Given the description of an element on the screen output the (x, y) to click on. 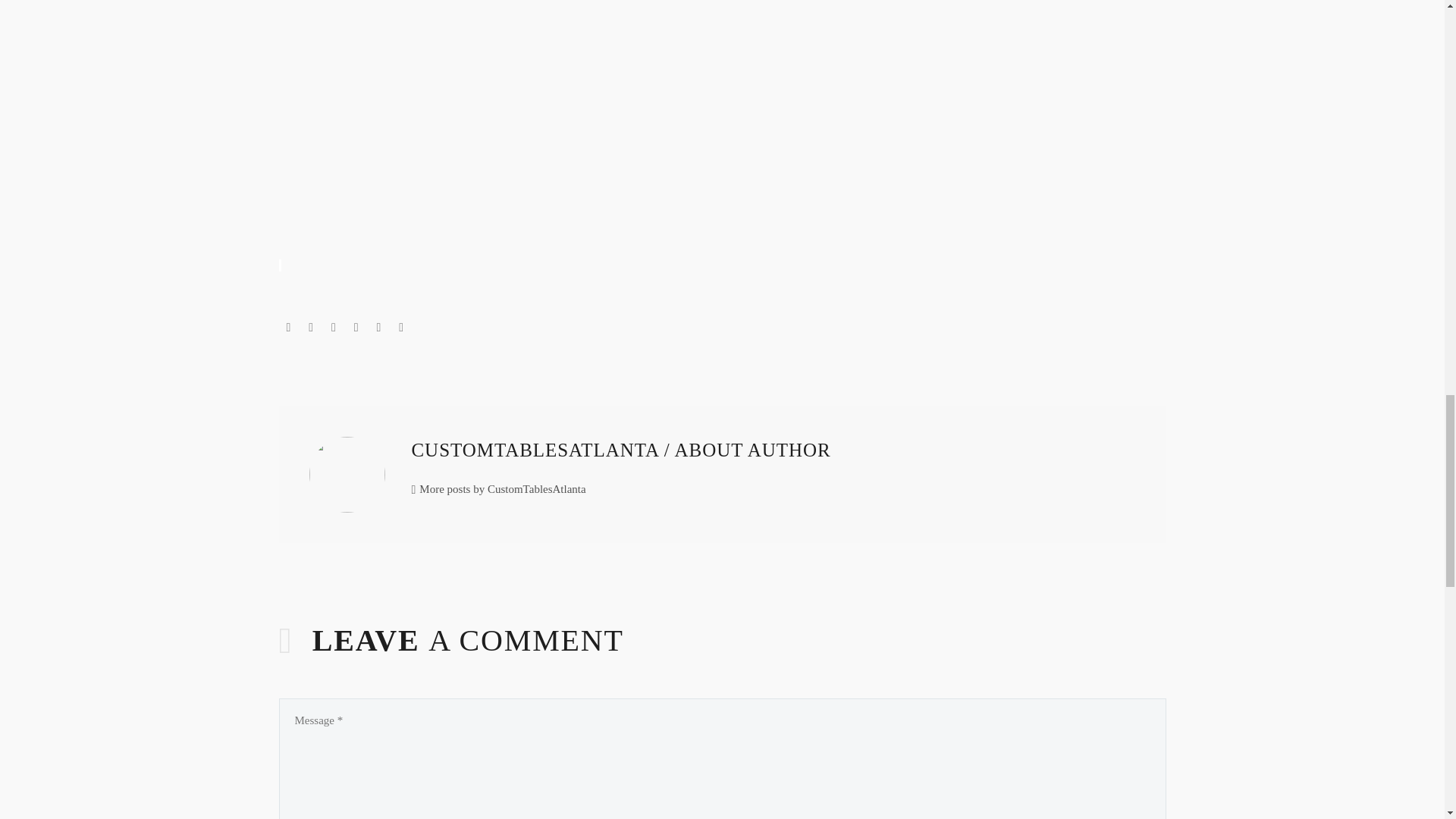
Pinterest (333, 327)
Facebook (288, 327)
Twitter (310, 327)
